Given the description of an element on the screen output the (x, y) to click on. 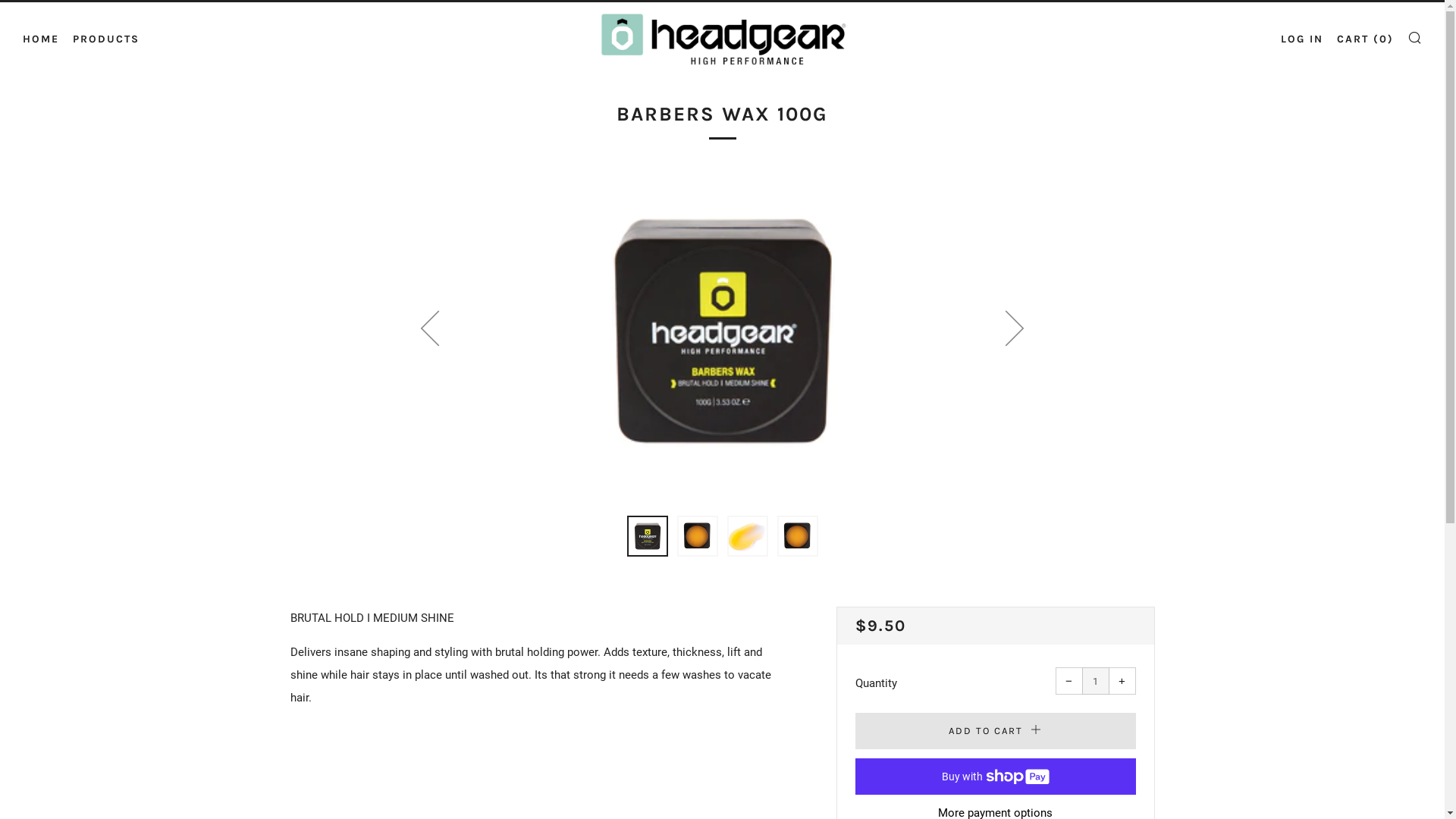
LOG IN Element type: text (1301, 37)
PRODUCTS Element type: text (105, 37)
Product image 4 Element type: text (796, 535)
Product image 2 Element type: text (696, 535)
Product image 3 Element type: text (746, 535)
ADD TO CART Element type: text (995, 730)
CART (0) Element type: text (1364, 37)
Product image 1 Element type: text (646, 535)
HOME Element type: text (40, 37)
+
Increase item quantity by one Element type: text (1121, 680)
SEARCH Element type: text (1414, 36)
